Given the description of an element on the screen output the (x, y) to click on. 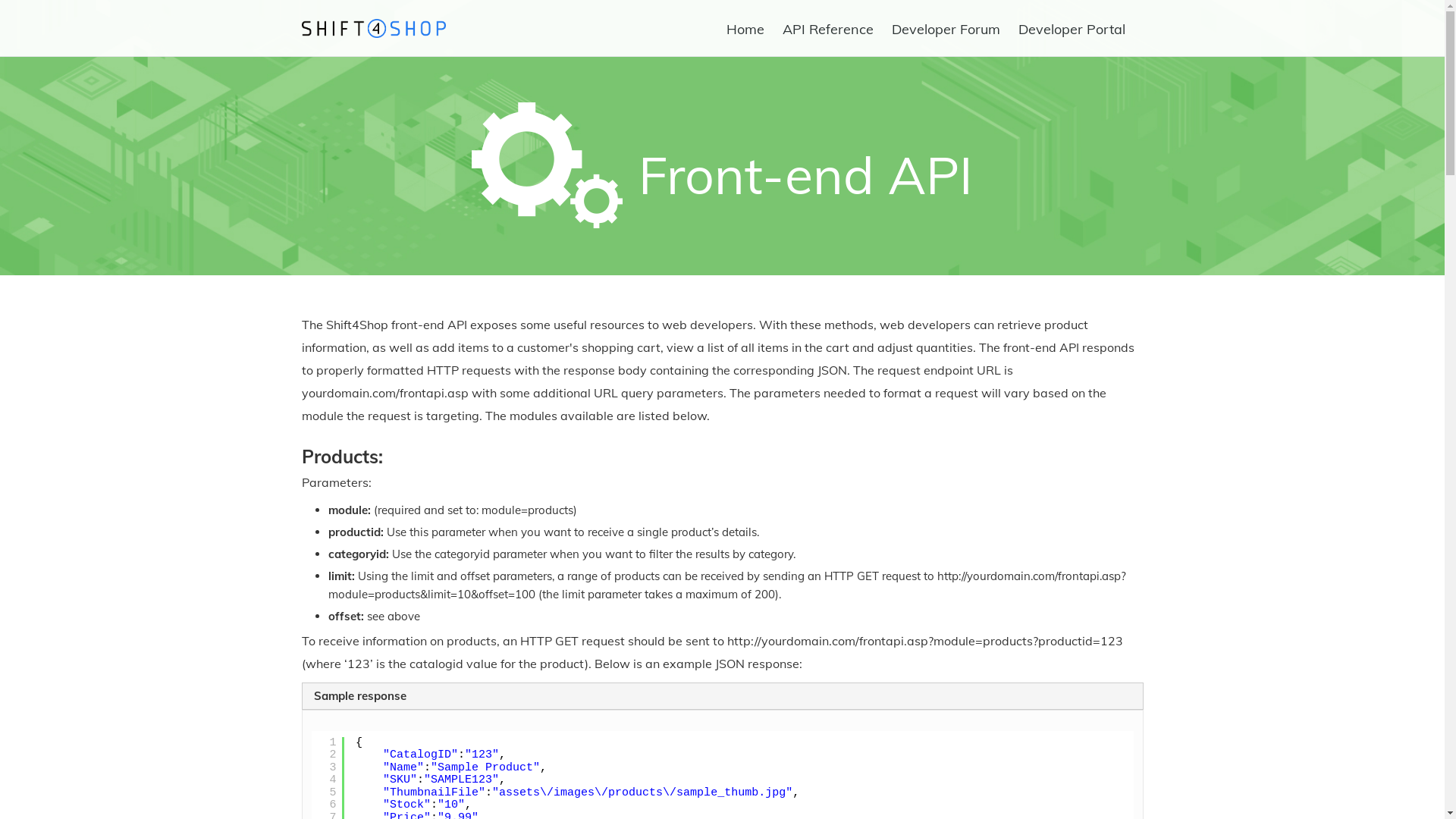
Home Element type: text (745, 28)
Developer Portal Element type: text (1070, 28)
Developer Forum Element type: text (945, 28)
API Reference Element type: text (827, 28)
